Given the description of an element on the screen output the (x, y) to click on. 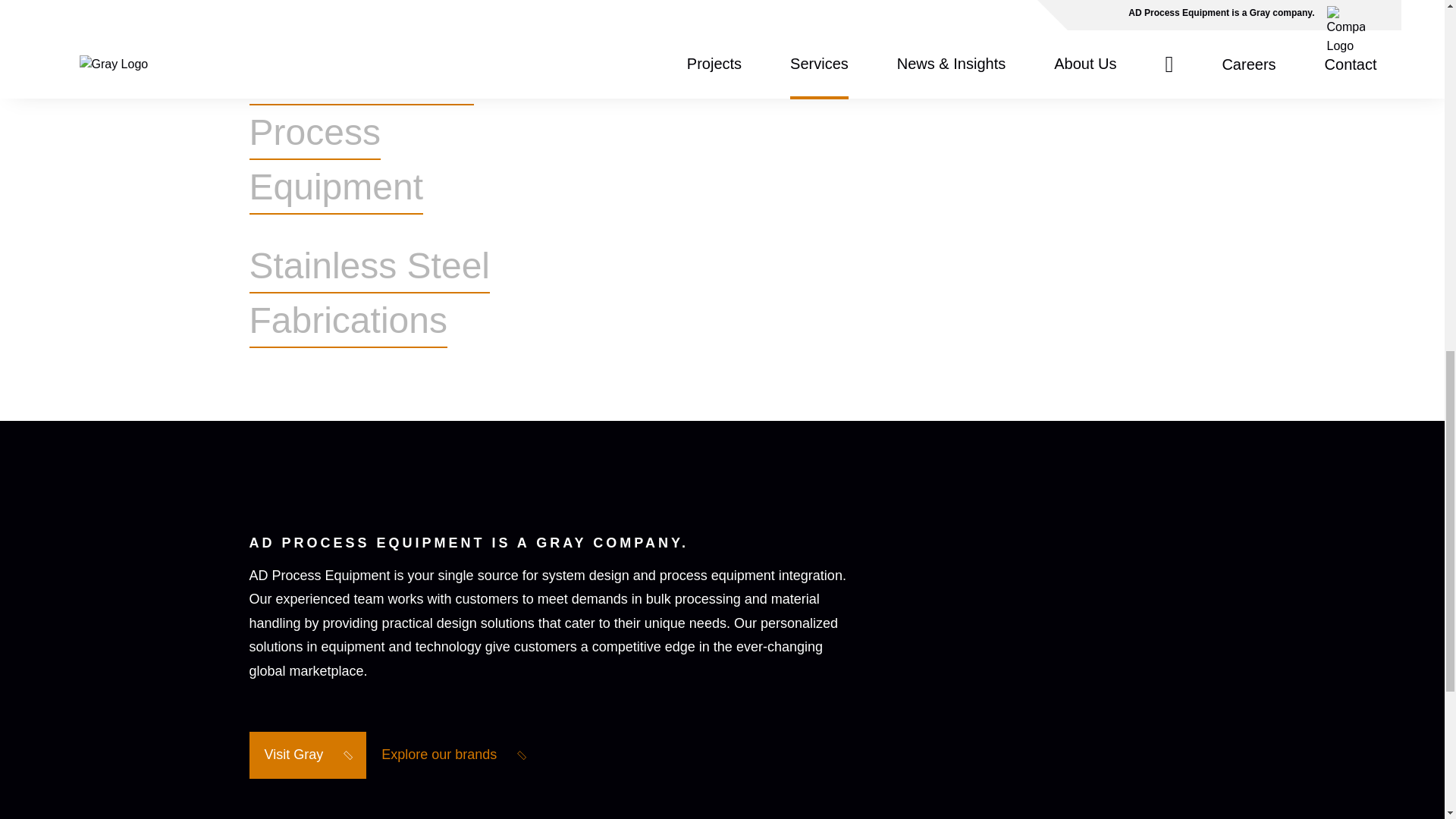
Visit Gray (306, 755)
Explore our brands (452, 754)
Stainless Steel Fabrications (390, 293)
Confectionery Process Equipment (390, 132)
